Given the description of an element on the screen output the (x, y) to click on. 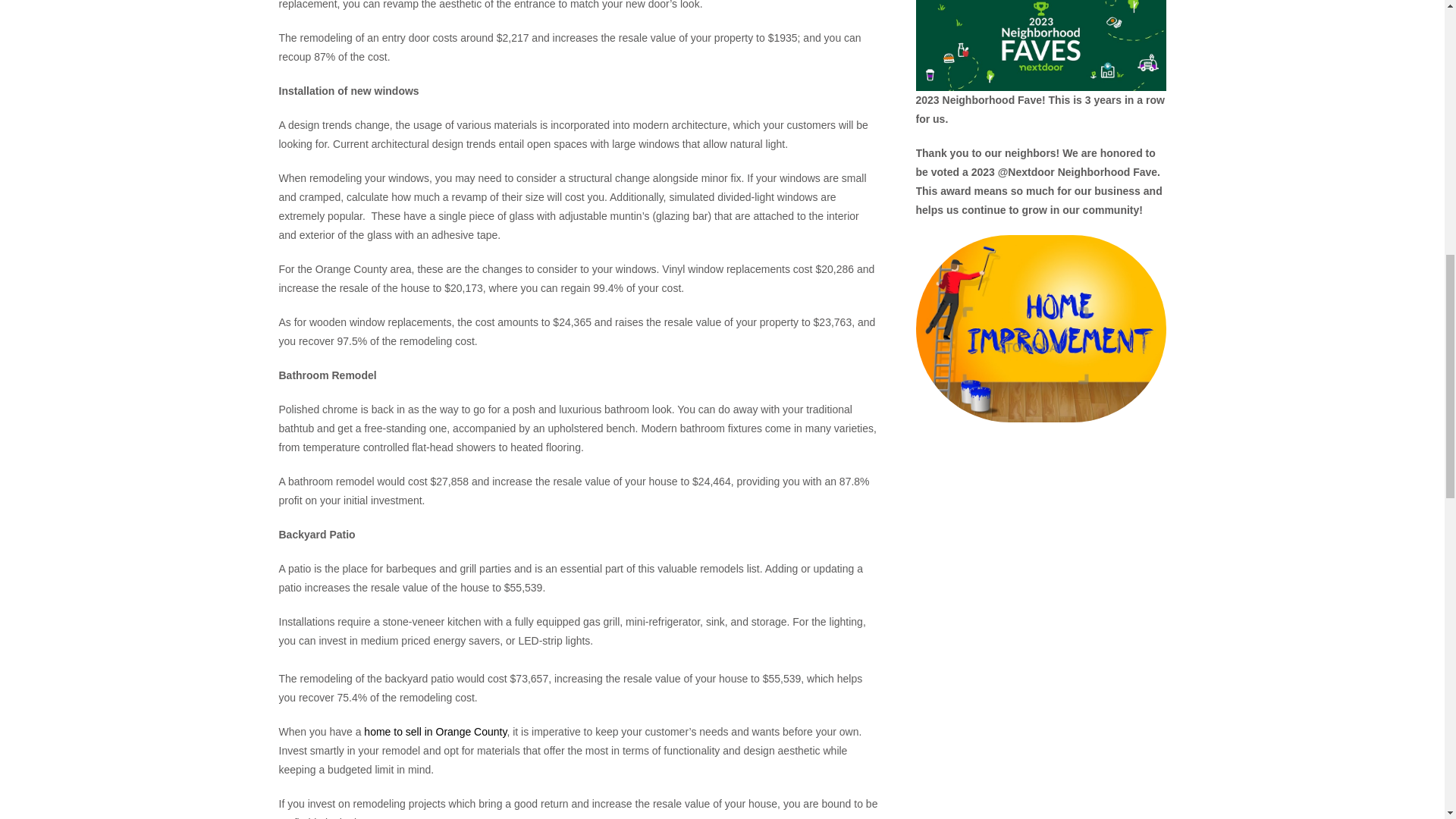
home to sell in Orange County (433, 731)
